Given the description of an element on the screen output the (x, y) to click on. 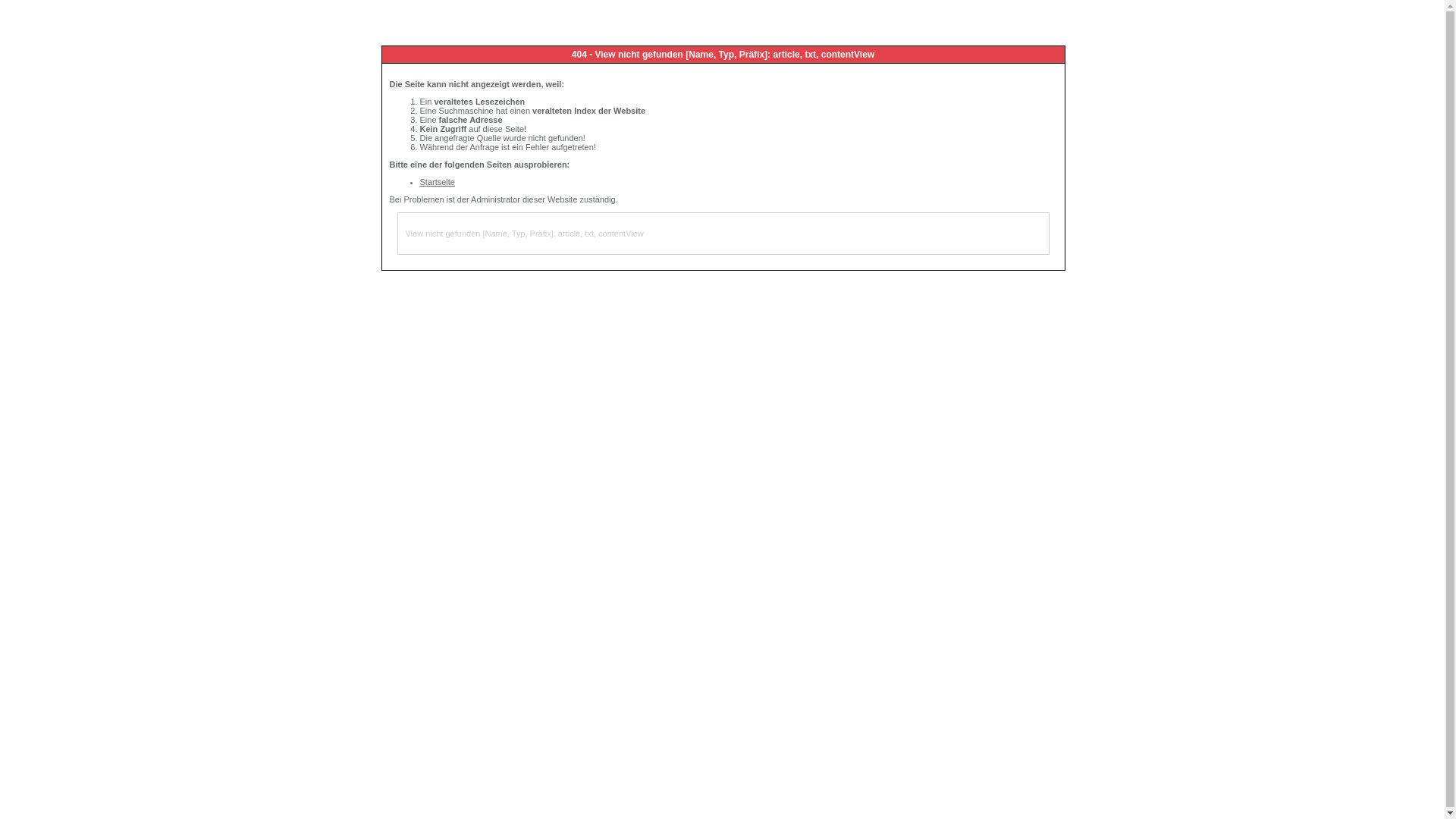
Startseite Element type: text (437, 181)
